Given the description of an element on the screen output the (x, y) to click on. 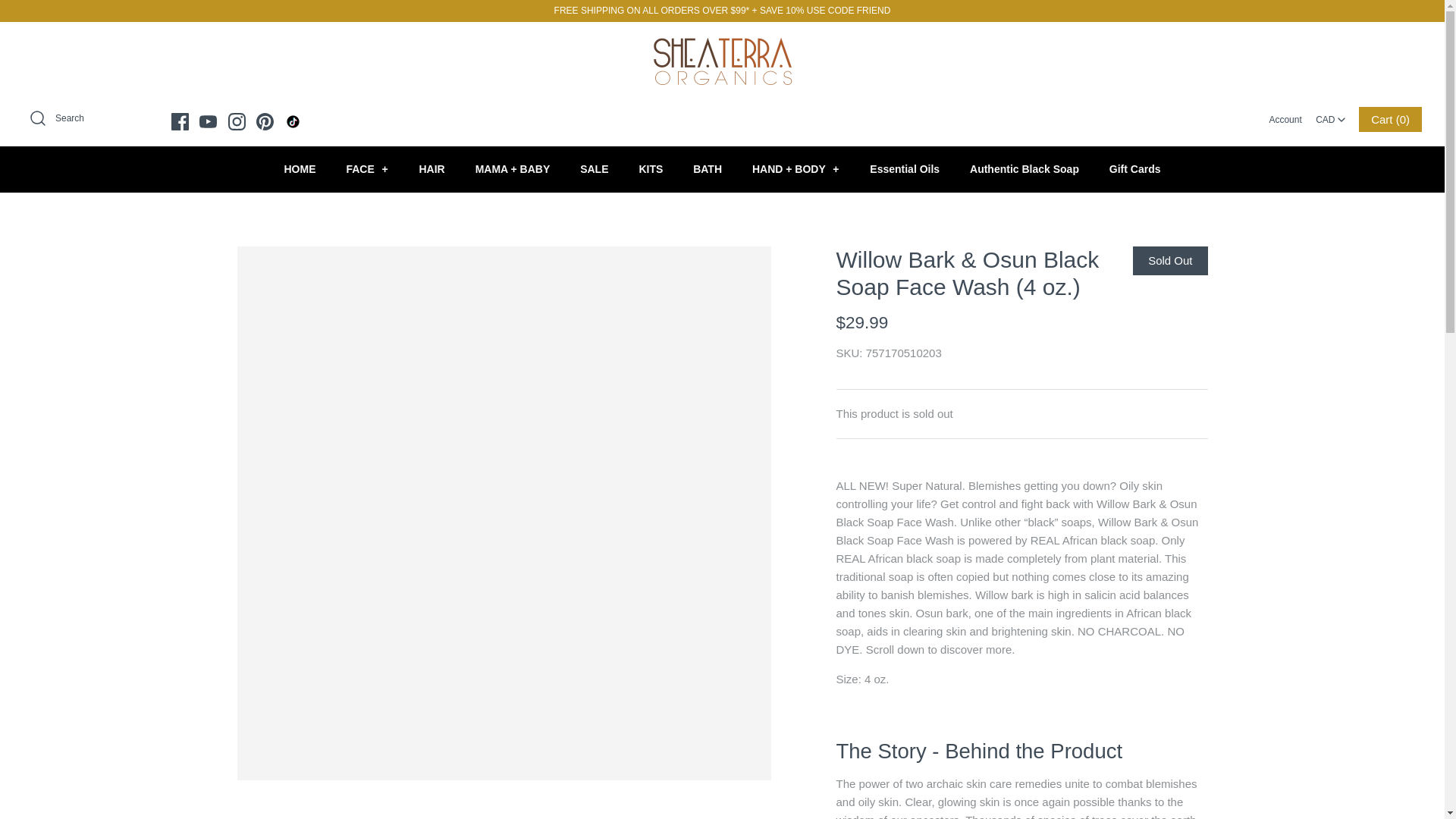
Shea Terra (721, 45)
Pinterest (264, 120)
Facebook (180, 120)
BATH (707, 169)
Instagram (237, 120)
Account (1284, 119)
Pinterest (264, 120)
KITS (650, 169)
HOME (299, 169)
Down (1341, 119)
Gift Cards (1135, 169)
HAIR (431, 169)
Essential Oils (904, 169)
Instagram (237, 120)
Facebook (180, 120)
